Given the description of an element on the screen output the (x, y) to click on. 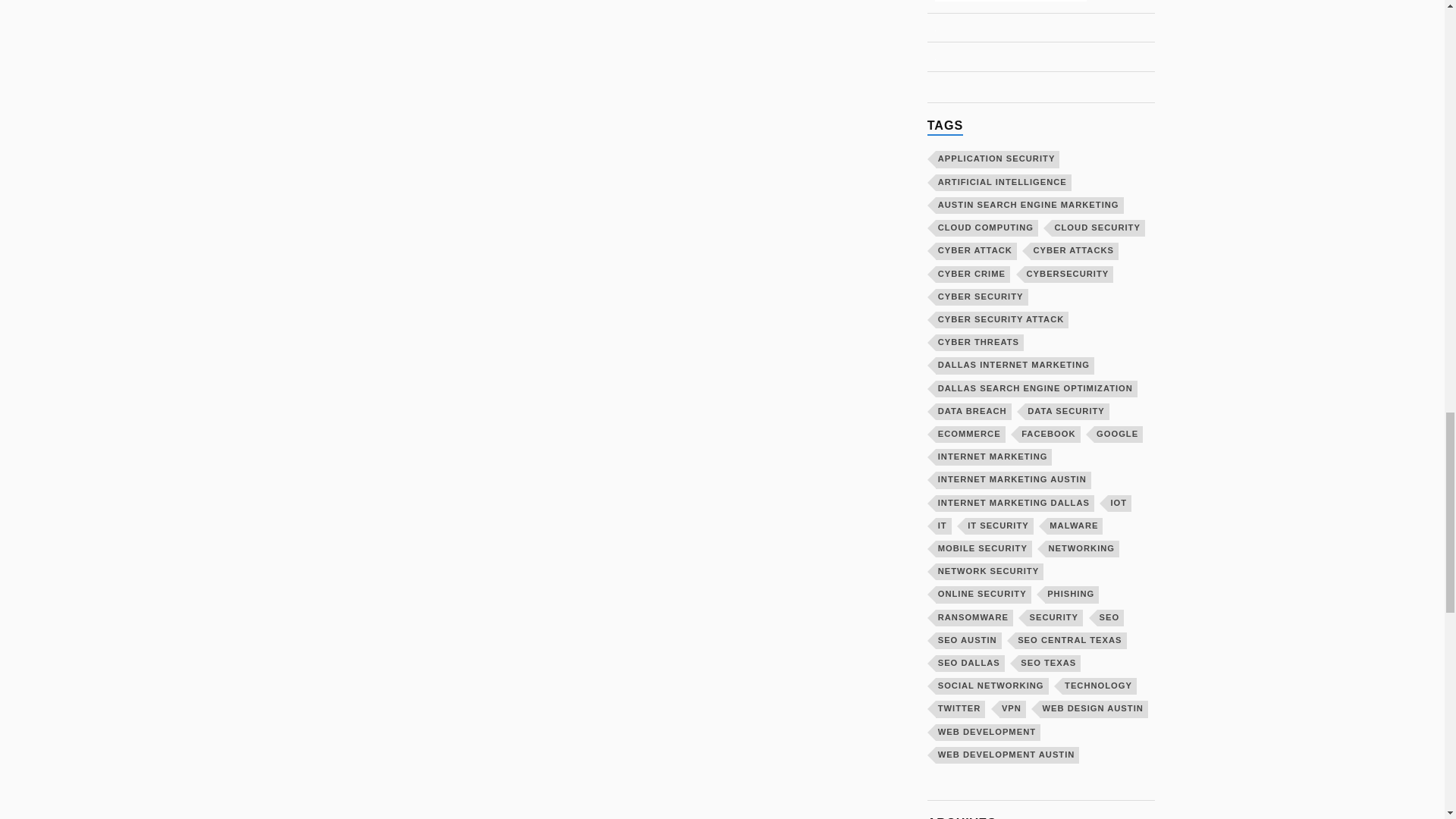
APPLICATION SECURITY (997, 158)
CYBERSECURITY (1069, 273)
CLOUD COMPUTING (987, 228)
CLOUD SECURITY (1097, 228)
CYBER CRIME (973, 273)
ARTIFICIAL INTELLIGENCE (1003, 182)
CYBER ATTACKS (1074, 250)
CYBER ATTACK (976, 250)
AUSTIN SEARCH ENGINE MARKETING (1030, 205)
